Given the description of an element on the screen output the (x, y) to click on. 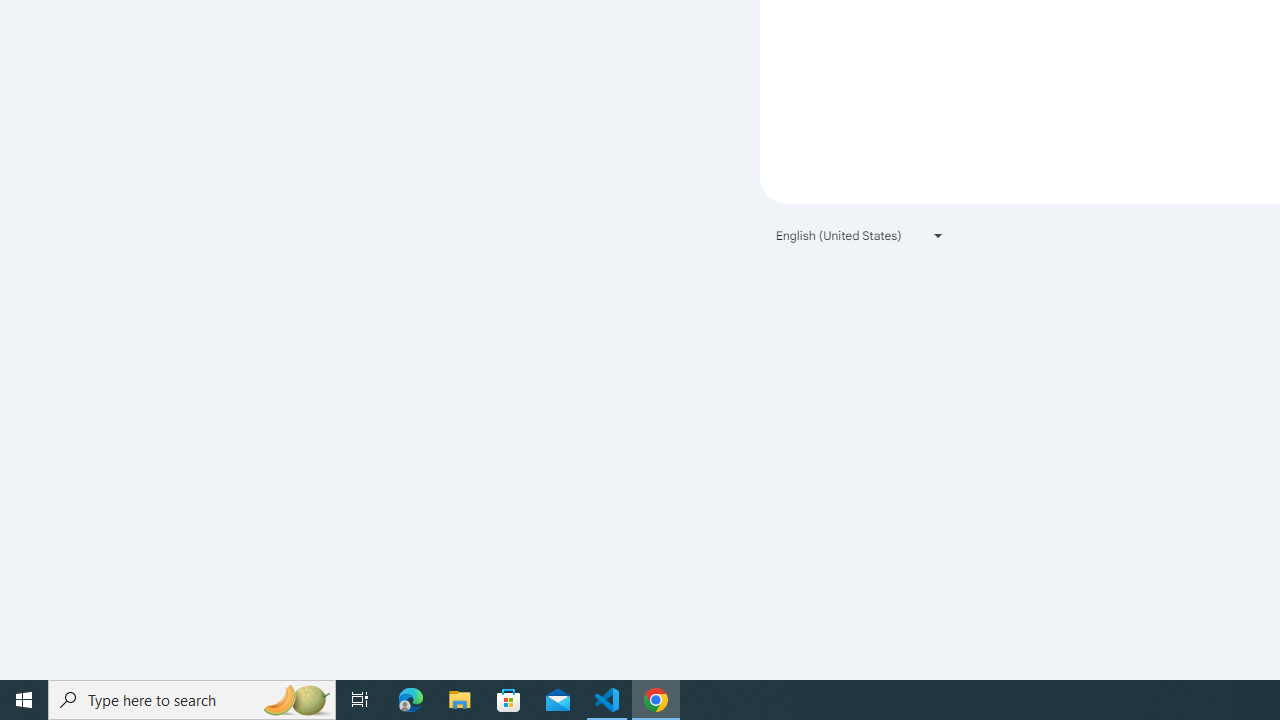
English (United States) (860, 234)
